Given the description of an element on the screen output the (x, y) to click on. 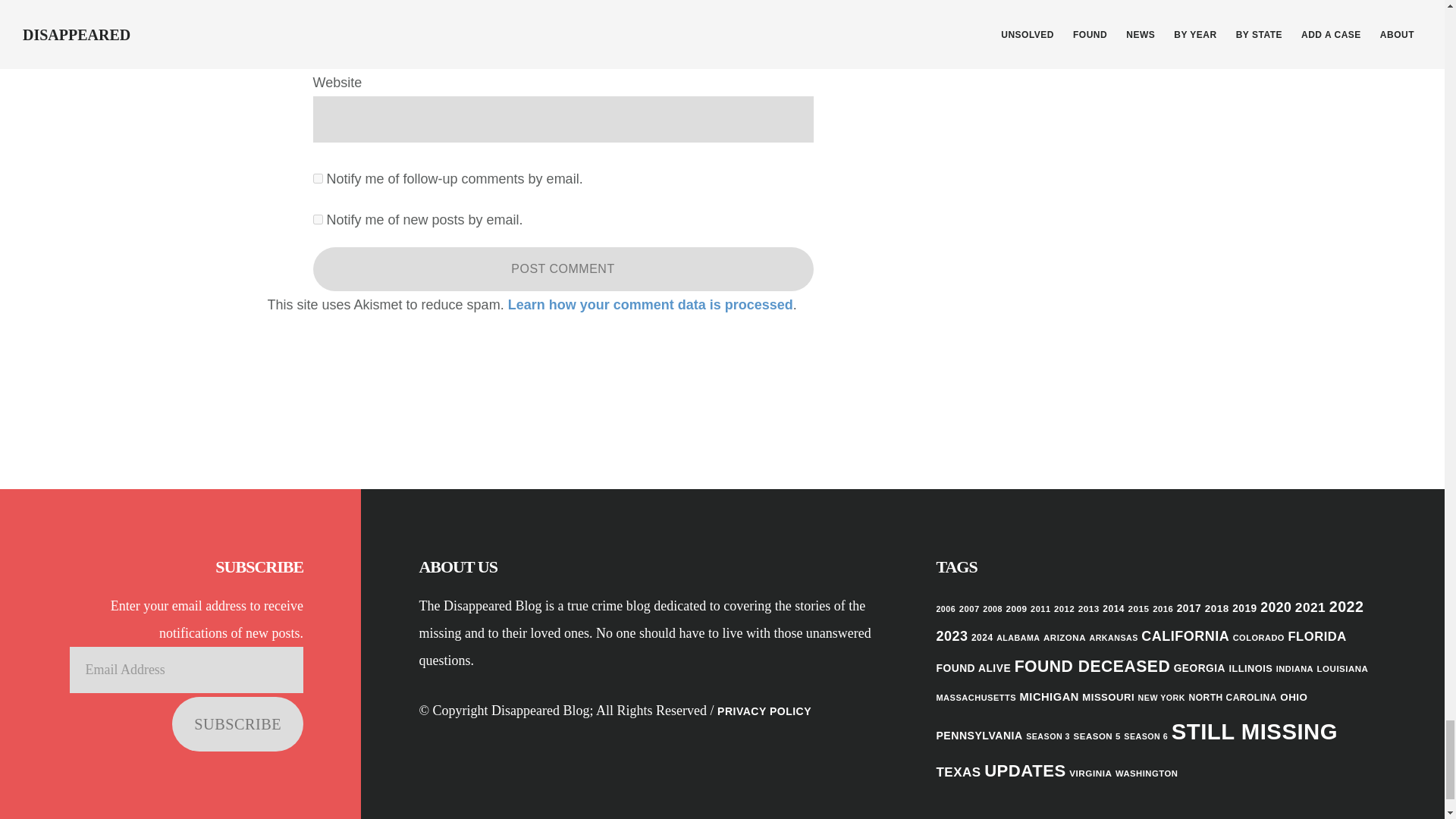
subscribe (317, 178)
Post Comment (562, 269)
subscribe (317, 219)
